Given the description of an element on the screen output the (x, y) to click on. 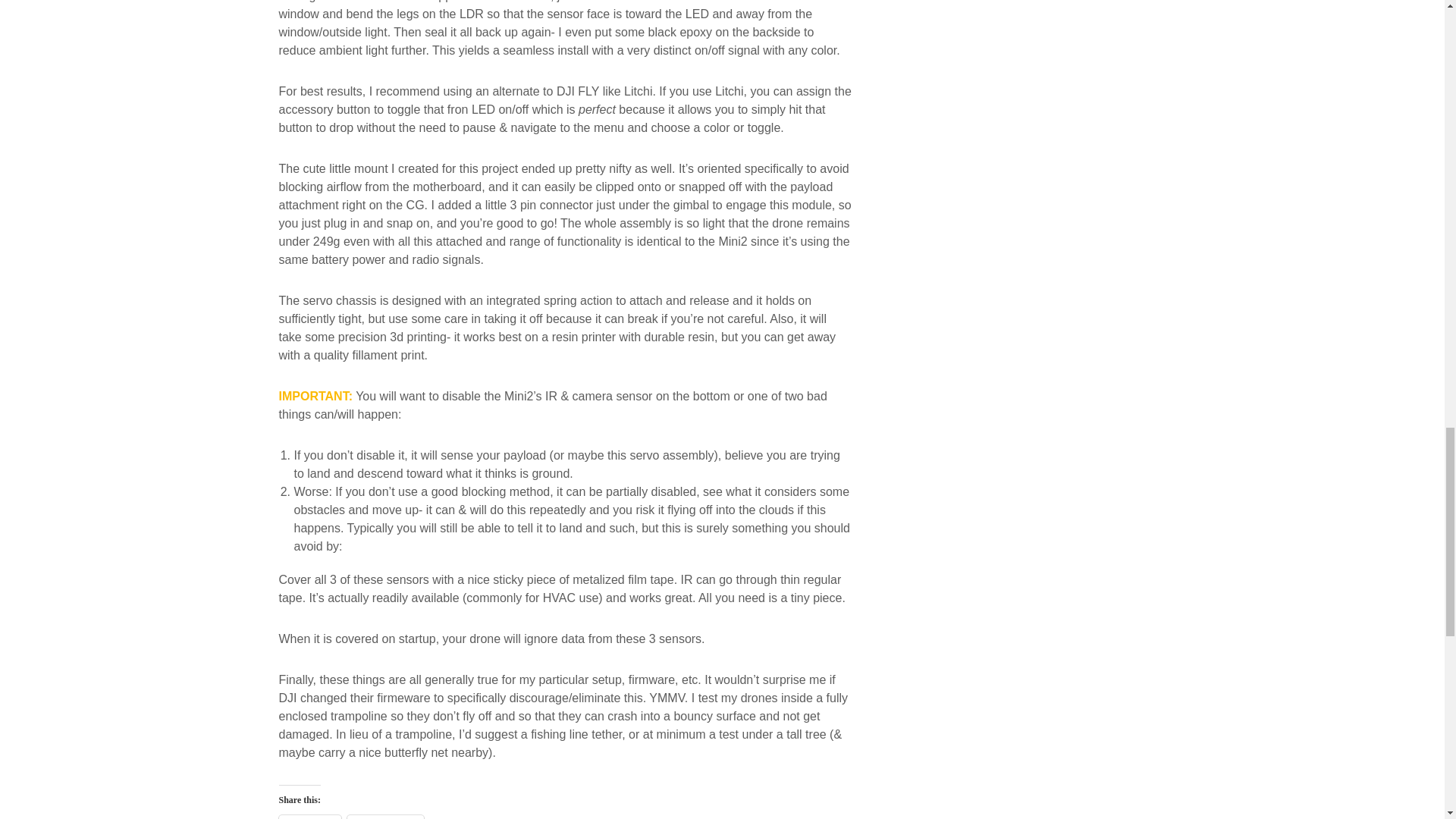
Click to share on Twitter (309, 816)
Facebook (385, 816)
Click to share on Facebook (385, 816)
Twitter (309, 816)
